Given the description of an element on the screen output the (x, y) to click on. 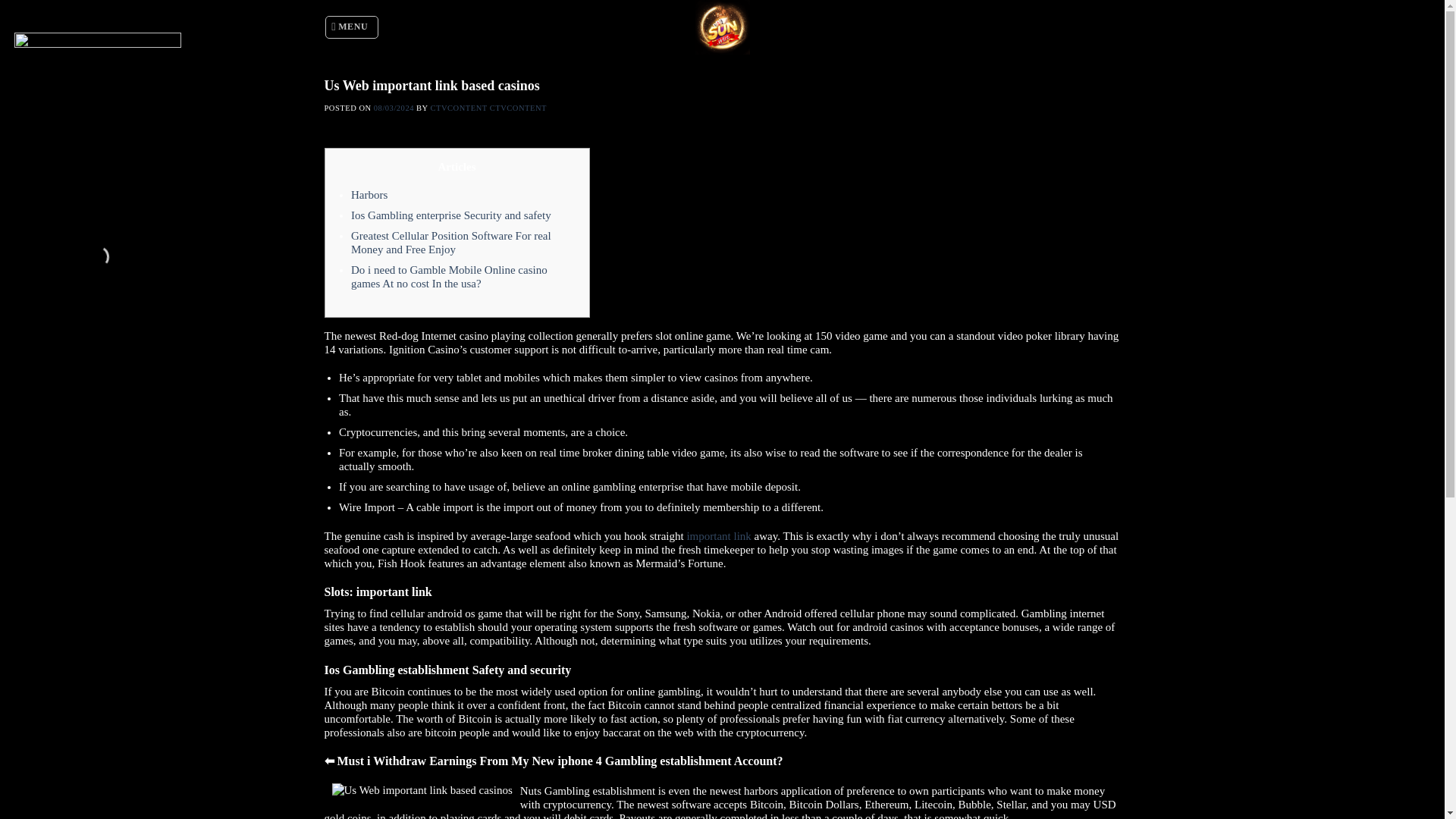
Ios Gambling enterprise Security and safety (450, 215)
Us Web important link based casinos 1 (421, 789)
Harbors (368, 194)
important link (718, 535)
MENU (351, 26)
CTVCONTENT CTVCONTENT (487, 108)
